Given the description of an element on the screen output the (x, y) to click on. 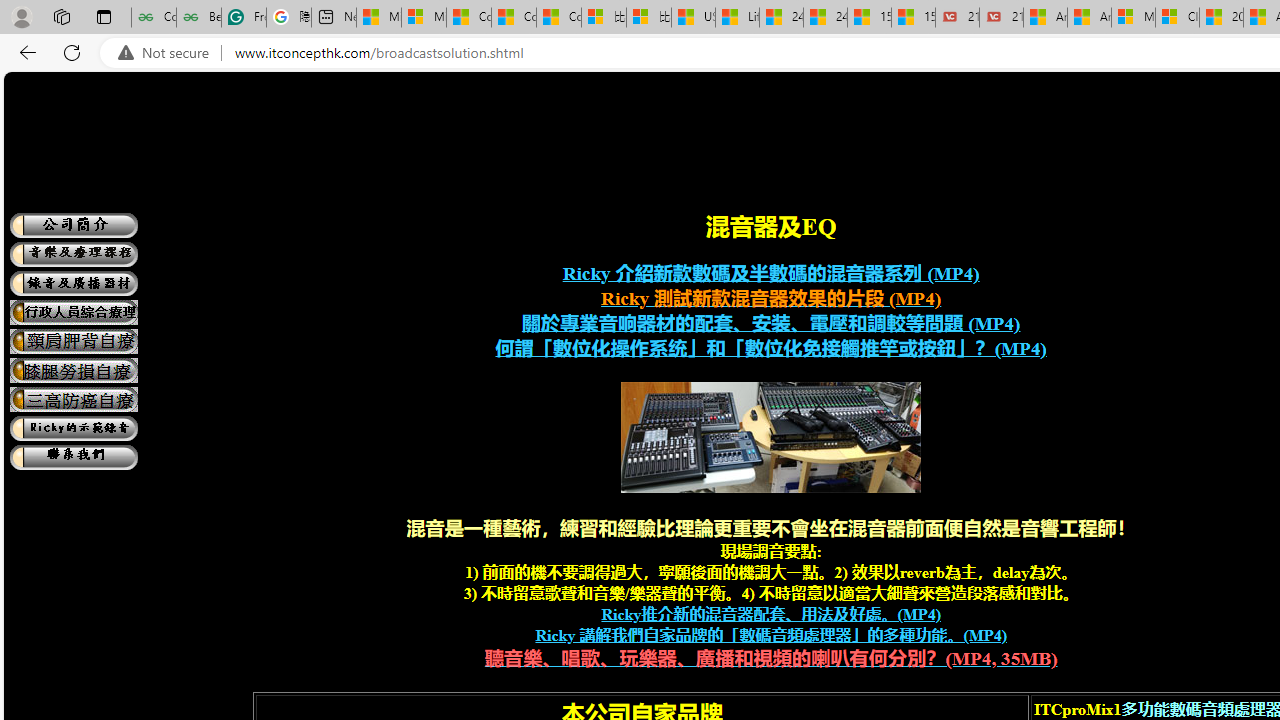
15 Ways Modern Life Contradicts the Teachings of Jesus (913, 17)
